Given the description of an element on the screen output the (x, y) to click on. 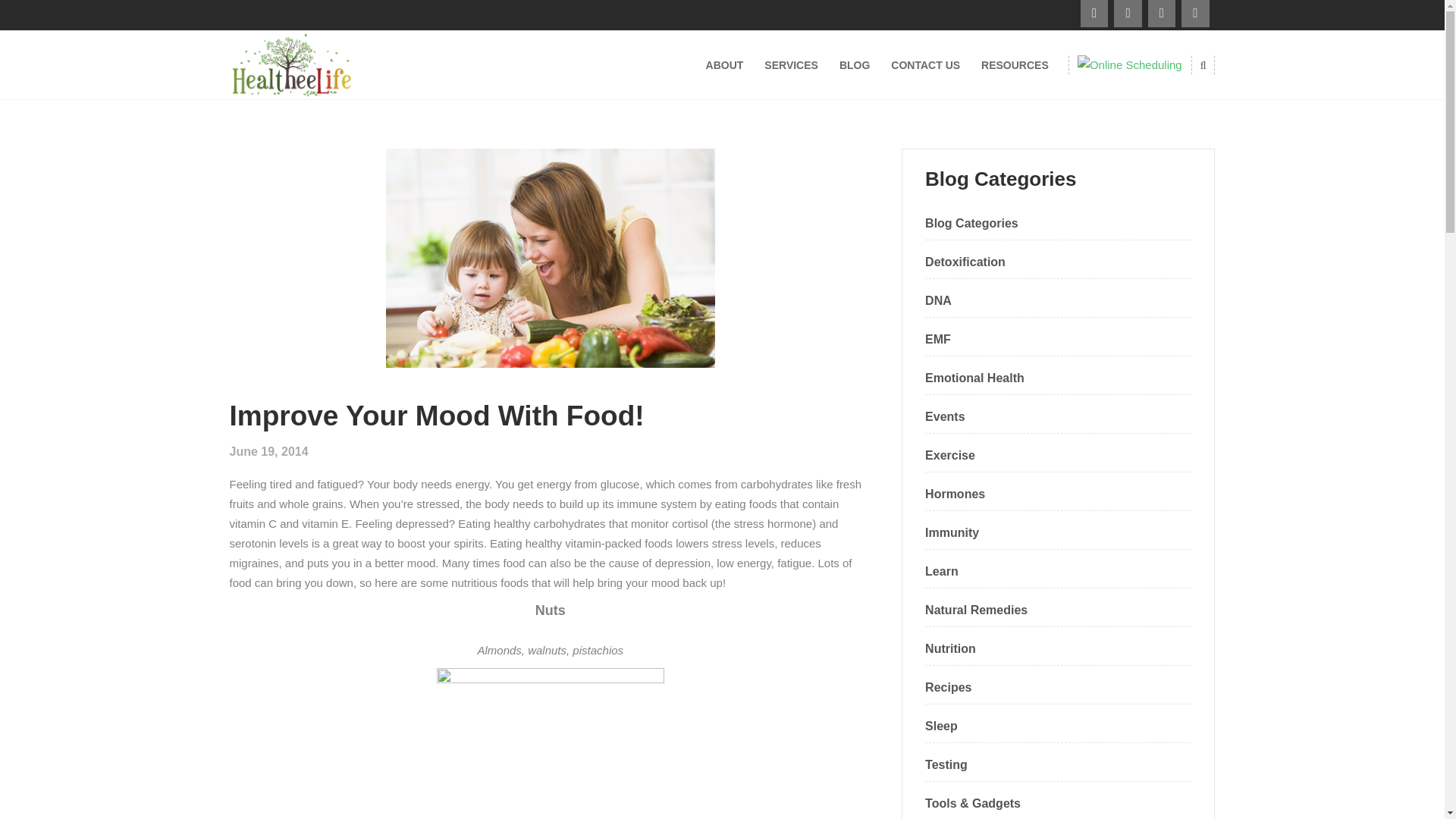
Yelp (1194, 13)
Facebook (1127, 13)
Improve Your Mood With Food! (435, 415)
SERVICES (791, 64)
Online scheduling (1129, 64)
Instagram (1161, 13)
Search (1171, 123)
CONTACT US (925, 64)
RESOURCES (1015, 64)
RSS (1094, 13)
